Given the description of an element on the screen output the (x, y) to click on. 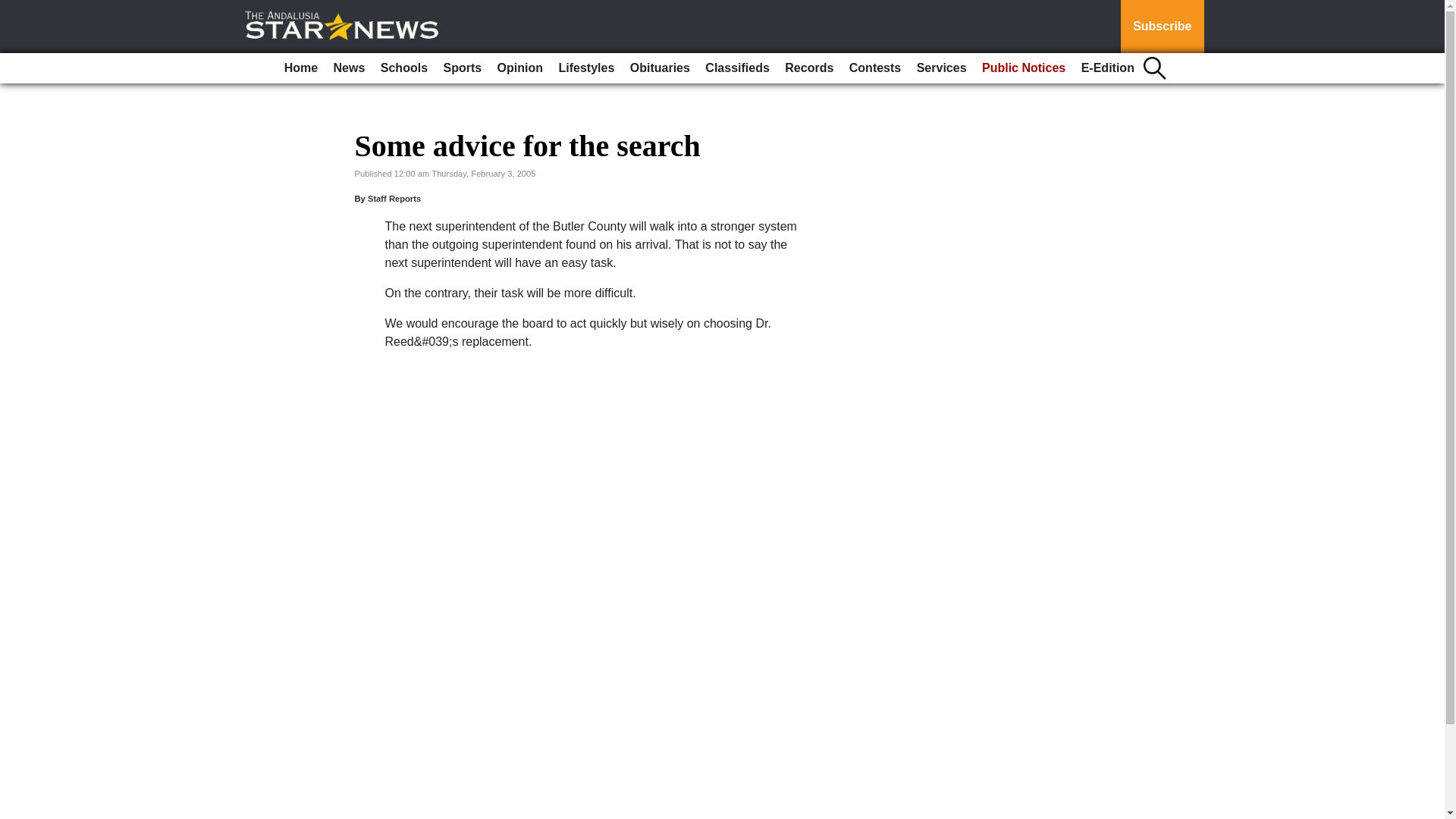
News (349, 68)
Records (809, 68)
Opinion (520, 68)
Obituaries (659, 68)
Public Notices (1023, 68)
Classifieds (736, 68)
Staff Reports (394, 198)
Contests (875, 68)
Subscribe (1162, 26)
Schools (403, 68)
